Given the description of an element on the screen output the (x, y) to click on. 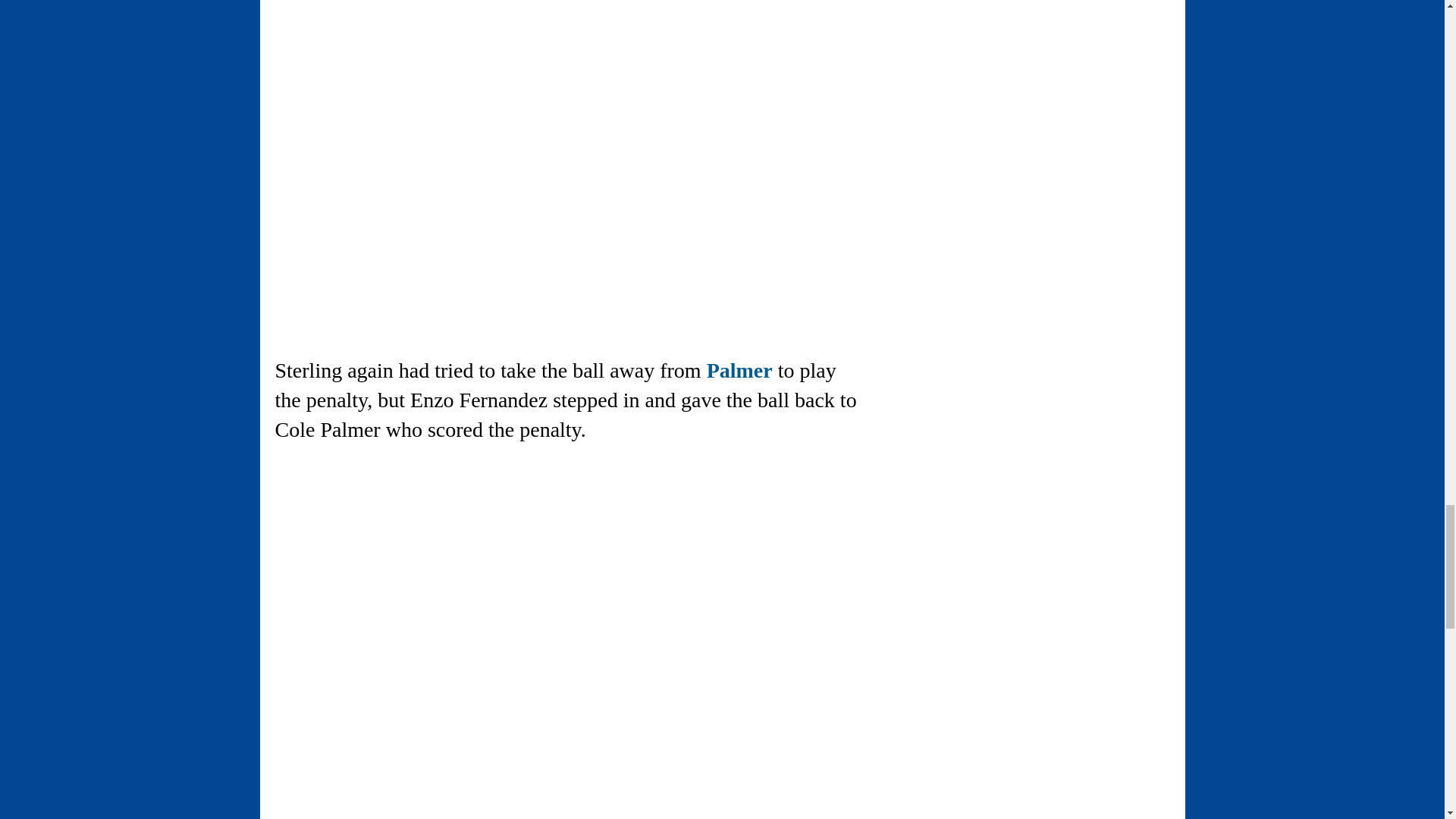
Palmer (739, 370)
